Given the description of an element on the screen output the (x, y) to click on. 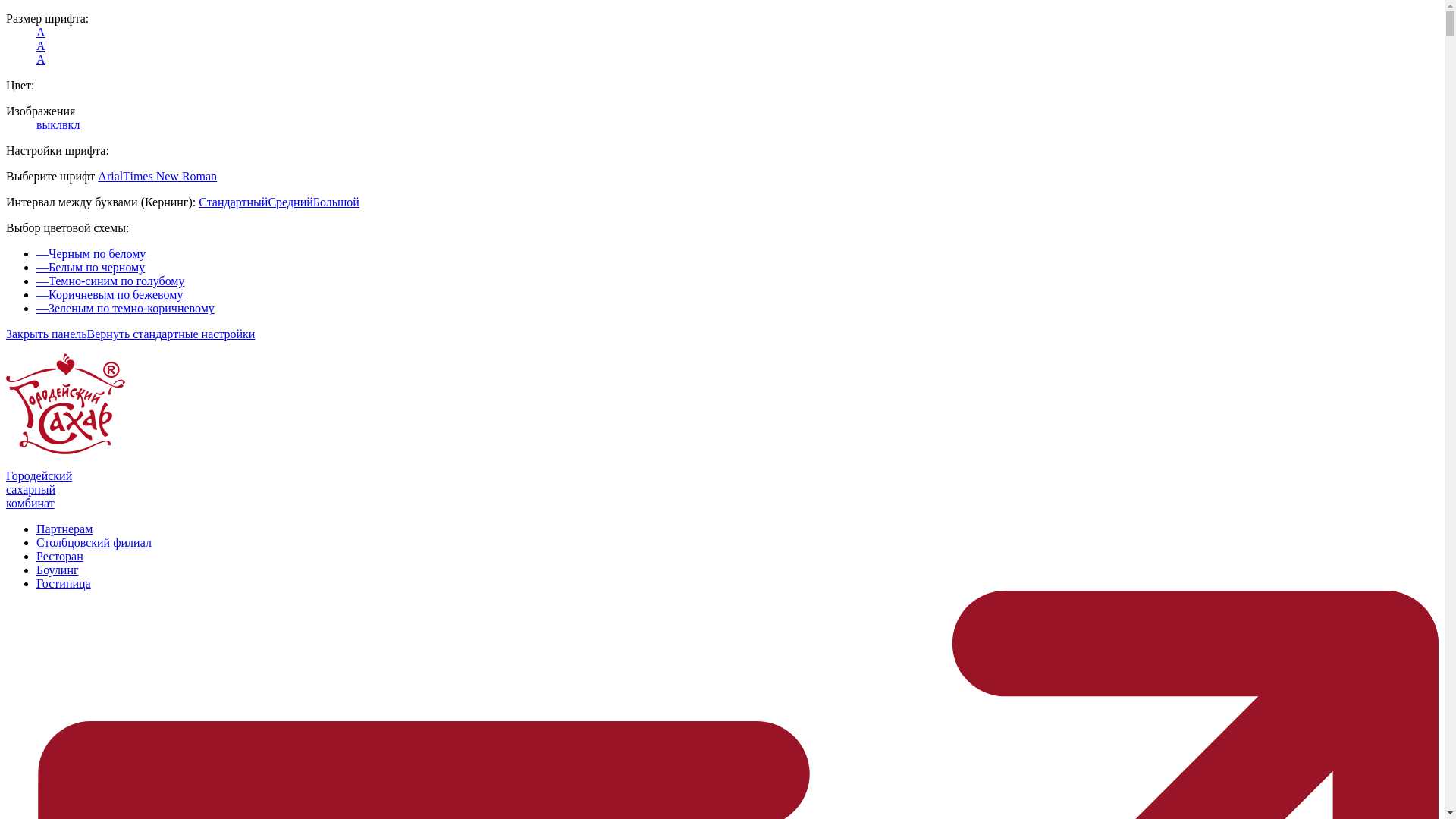
Arial Element type: text (109, 175)
Times New Roman Element type: text (169, 175)
